Given the description of an element on the screen output the (x, y) to click on. 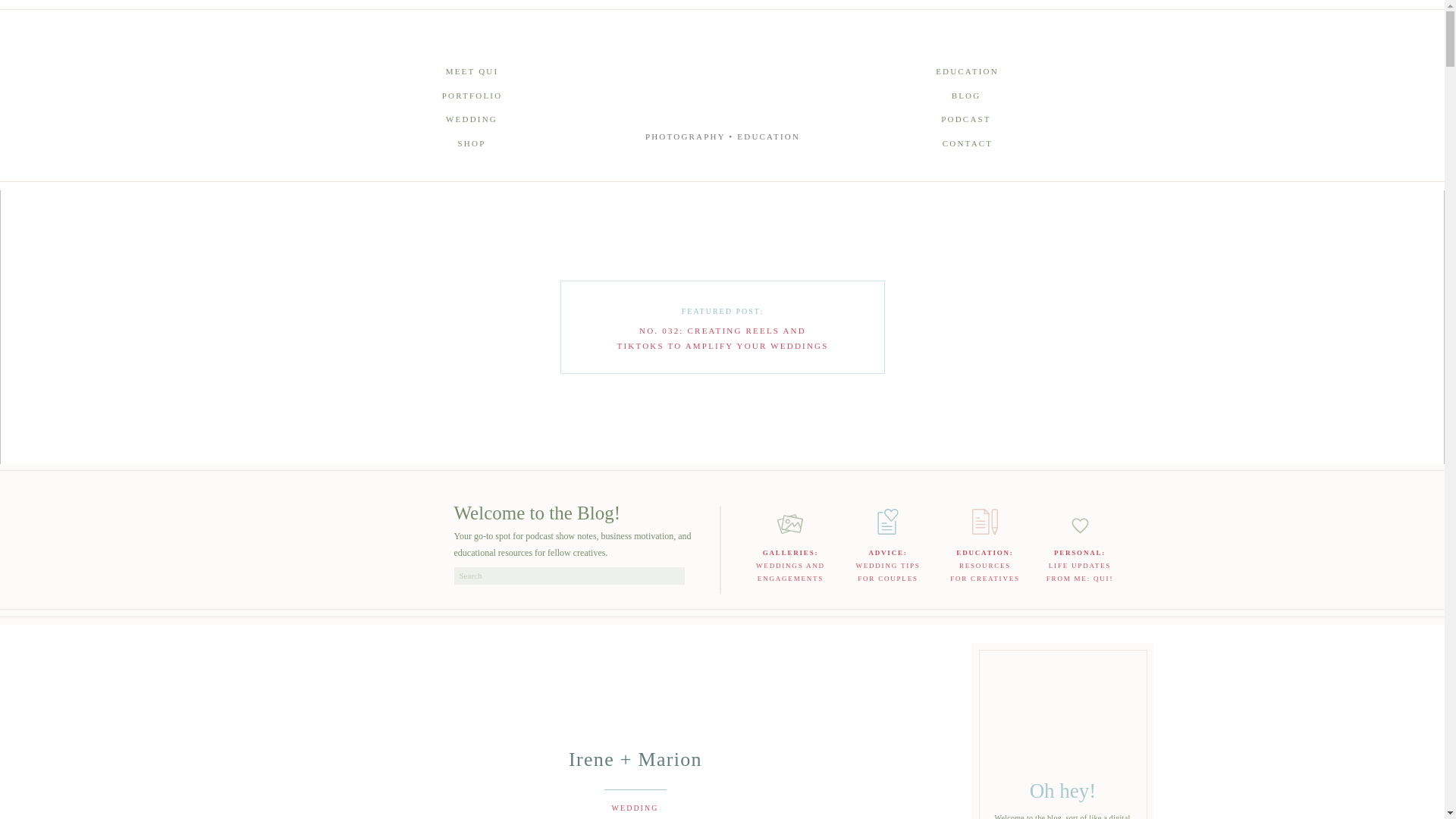
NO. 032: CREATING REELS AND TIKTOKS TO AMPLIFY YOUR WEDDINGS (722, 336)
WEDDING (472, 121)
ADVICE: WEDDING TIPS FOR COUPLES (985, 564)
PODCAST (887, 565)
EDUCATION (965, 121)
GALLERIES: WEDDINGS AND ENGAGEMENTS (967, 74)
PORTFOLIO (1079, 564)
BLOG (790, 564)
